Given the description of an element on the screen output the (x, y) to click on. 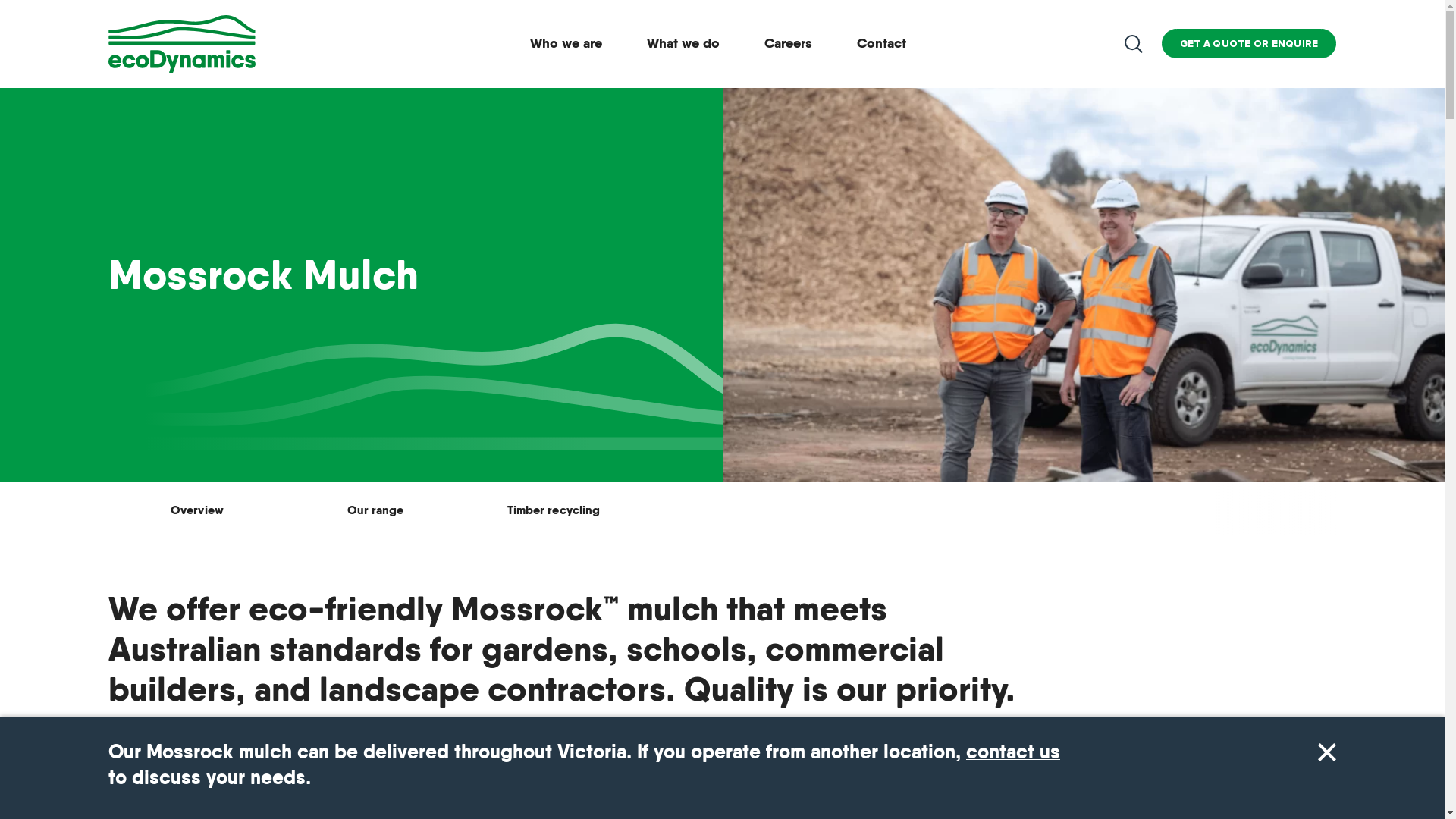
contact us Element type: text (1013, 751)
What we do Element type: text (682, 43)
GET A QUOTE OR ENQUIRE Element type: text (203, 745)
Who we are Element type: text (566, 43)
Skip to content Element type: text (0, 0)
Overview Element type: text (196, 509)
Contact Element type: text (881, 43)
Our range Element type: text (375, 509)
Careers Element type: text (788, 43)
GET A QUOTE OR ENQUIRE Element type: text (1248, 43)
Timber recycling Element type: text (553, 509)
